Given the description of an element on the screen output the (x, y) to click on. 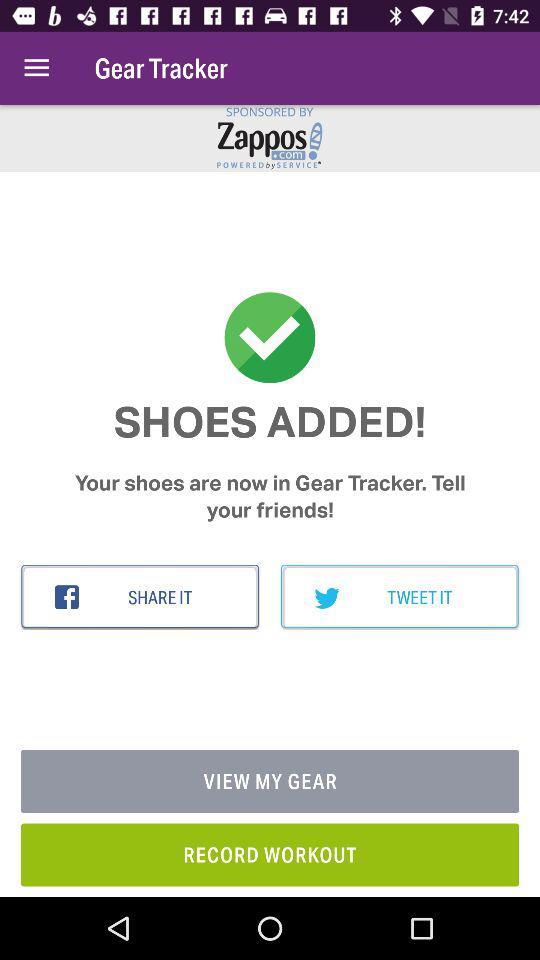
scroll until the tweet it icon (399, 597)
